Given the description of an element on the screen output the (x, y) to click on. 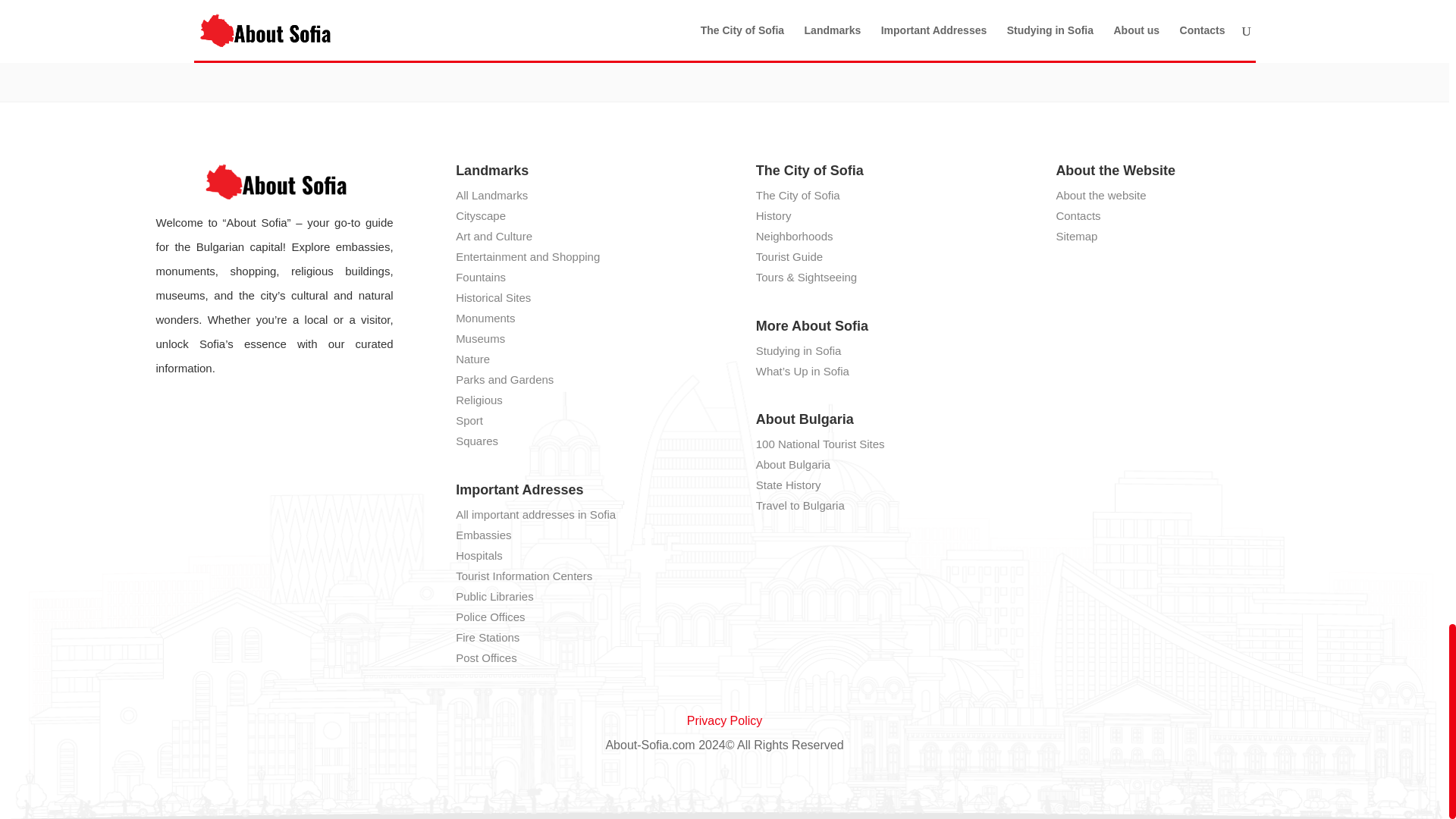
Art and Culture (493, 236)
All Landmarks (491, 195)
Archaeological Complex "KALETO" (980, 4)
Manarstir "7 Thrones" (724, 4)
Cityscape (480, 215)
Archaeological Complex "KALETO" (980, 4)
House-Museum "Yordan Yovkov" (466, 4)
House-Museum "Yordan Yovkov" (466, 4)
Manarstir "7 Thrones" (724, 4)
